Given the description of an element on the screen output the (x, y) to click on. 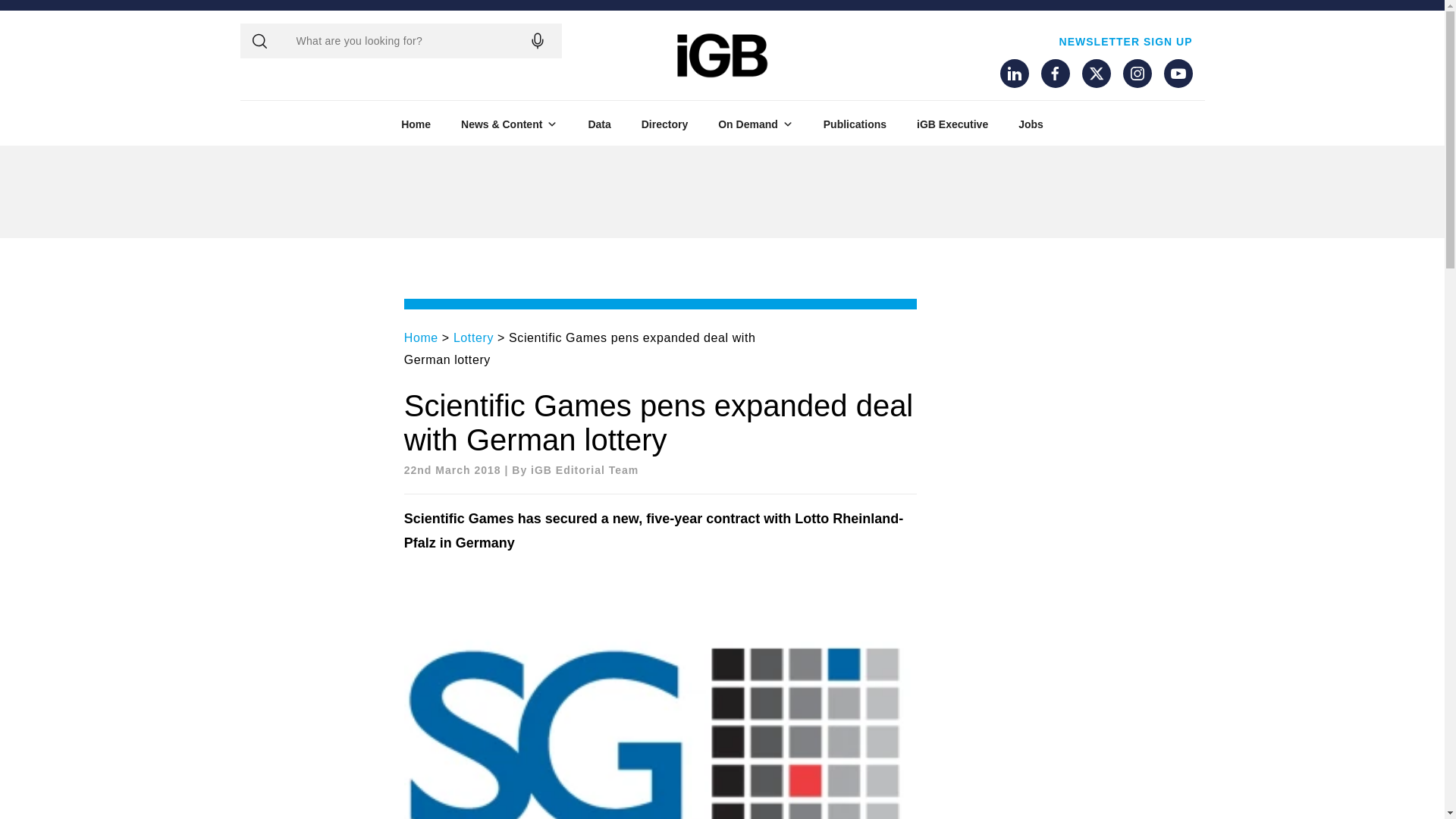
Facebook (1054, 72)
Instagram (1136, 72)
3rd party ad content (1110, 192)
NEWSLETTER SIGN UP (1125, 41)
LinkedIn (1012, 72)
3rd party ad content (721, 192)
Home (415, 124)
3rd party ad content (334, 192)
YouTube (1177, 72)
Twitter (1095, 72)
